Given the description of an element on the screen output the (x, y) to click on. 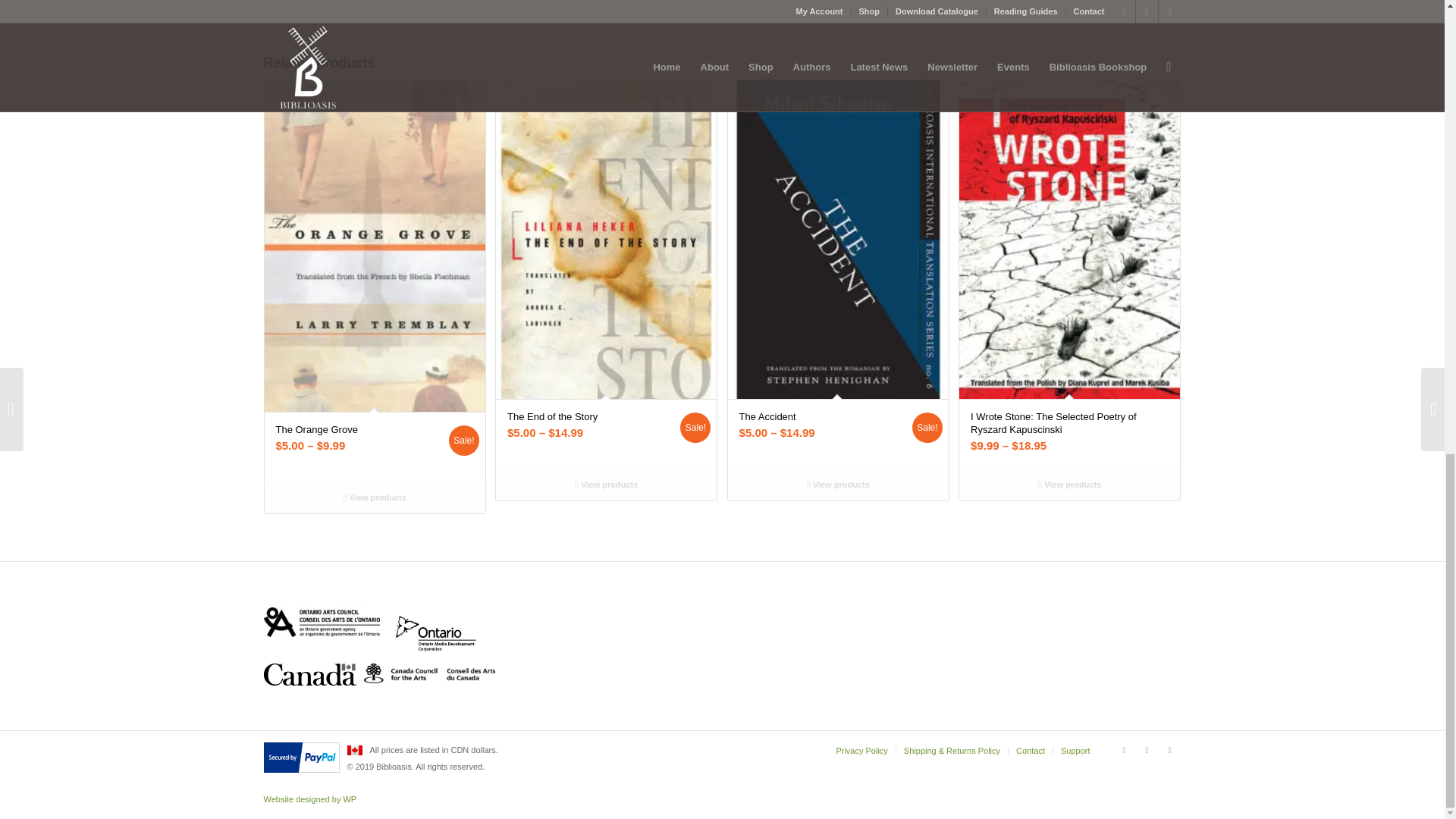
X (1146, 749)
Facebook (1124, 749)
Mail (1169, 749)
